Given the description of an element on the screen output the (x, y) to click on. 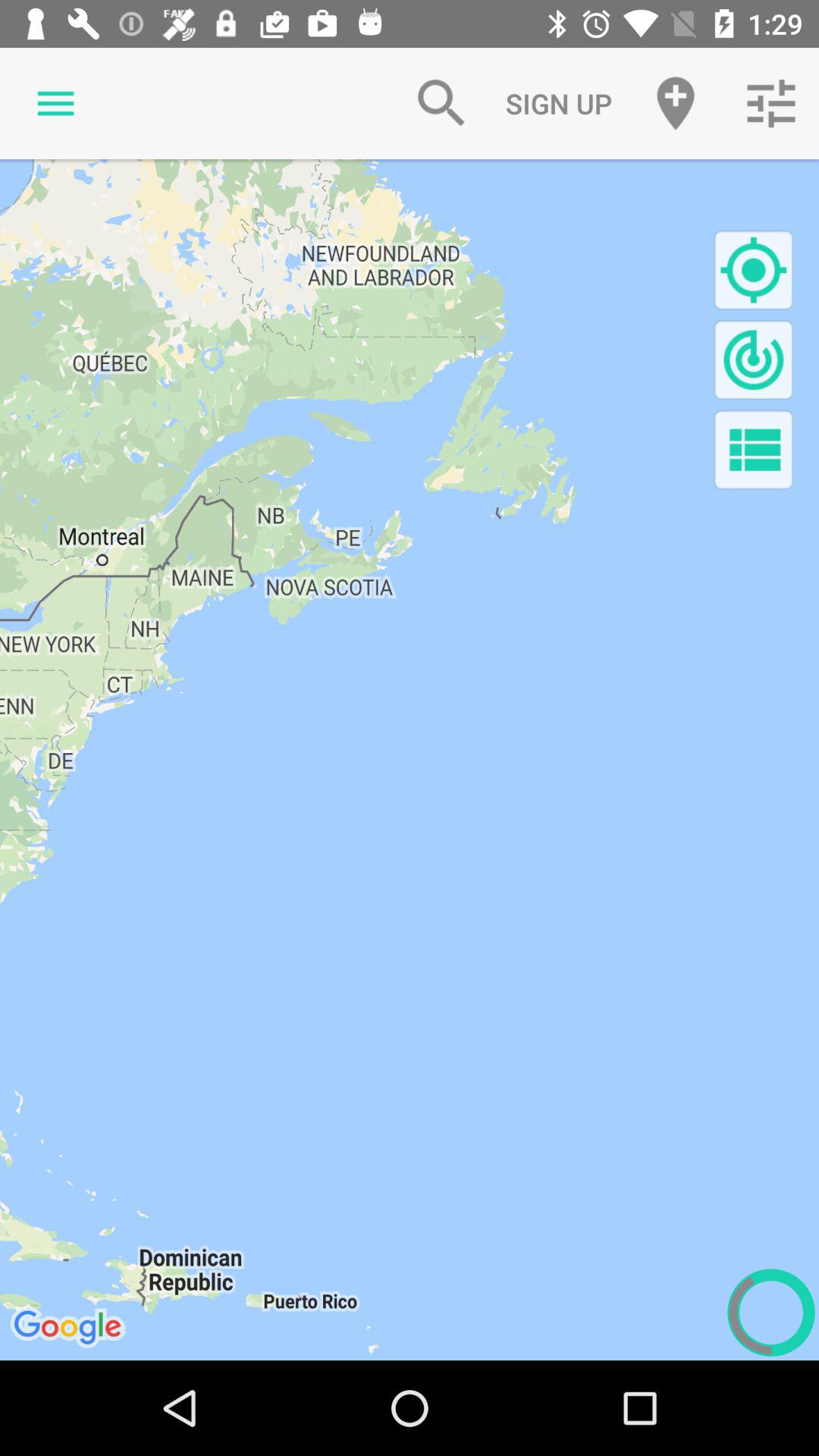
search for location (753, 269)
